Given the description of an element on the screen output the (x, y) to click on. 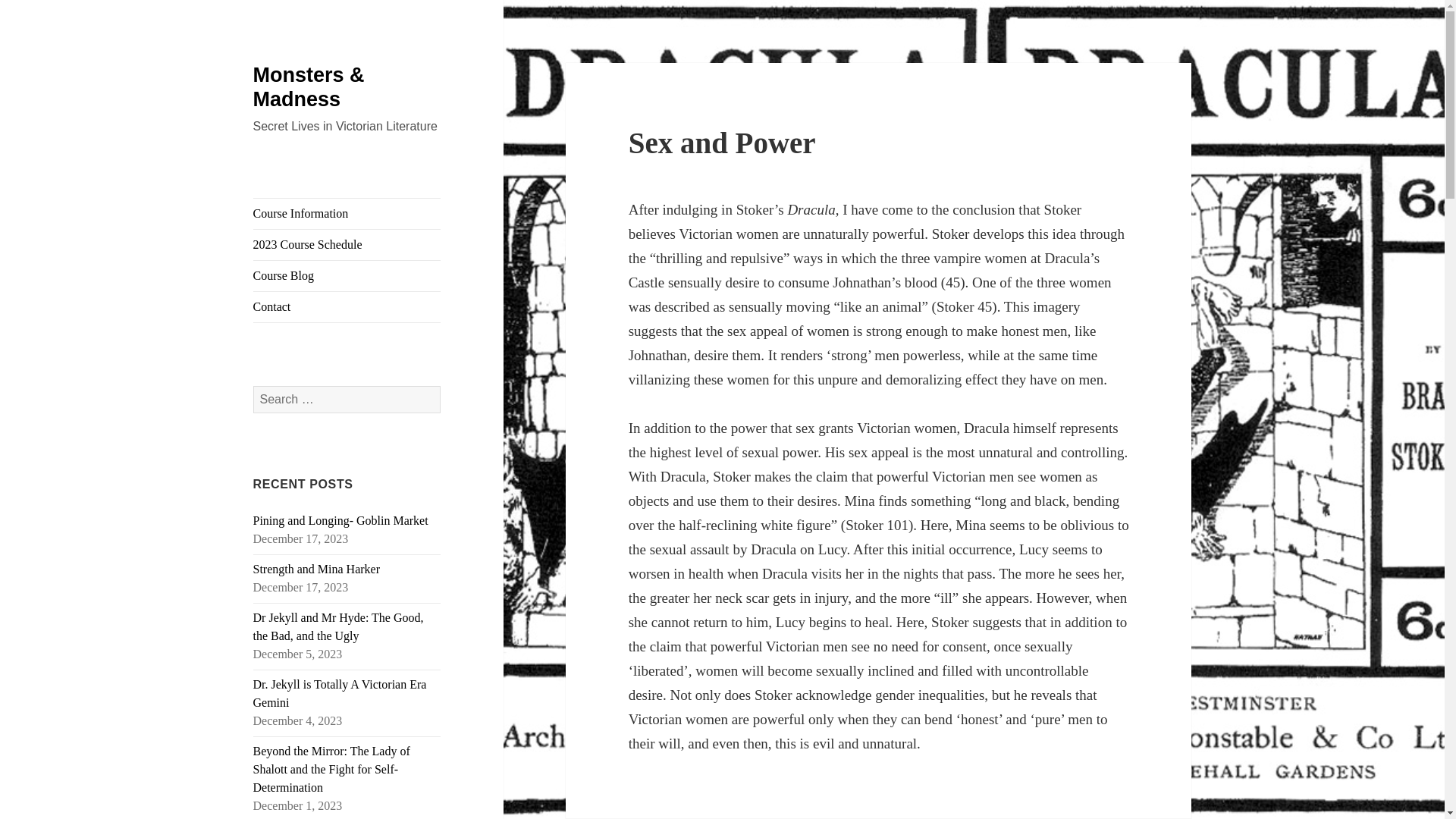
Course Information (347, 214)
Dr. Jekyll is Totally A Victorian Era Gemini (339, 693)
Dr Jekyll and Mr Hyde: The Good, the Bad, and the Ugly (338, 626)
Strength and Mina Harker (316, 568)
2023 Course Schedule (347, 245)
Pining and Longing- Goblin Market (340, 520)
Course Blog (347, 276)
